Given the description of an element on the screen output the (x, y) to click on. 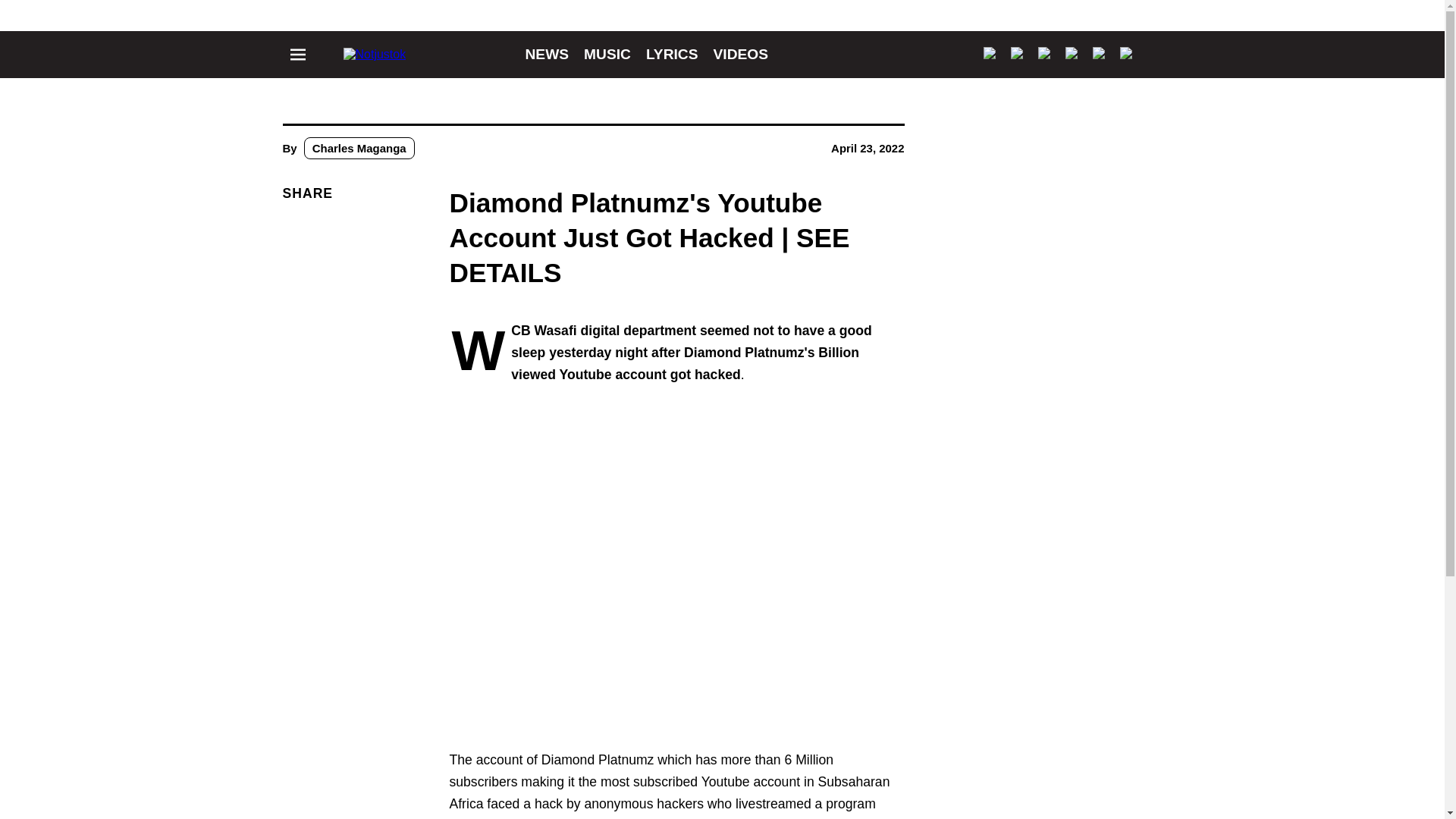
Charles Maganga (359, 147)
Posts by Charles Maganga (359, 147)
NEWS (546, 53)
MUSIC (606, 53)
VIDEOS (740, 53)
LYRICS (672, 53)
